Given the description of an element on the screen output the (x, y) to click on. 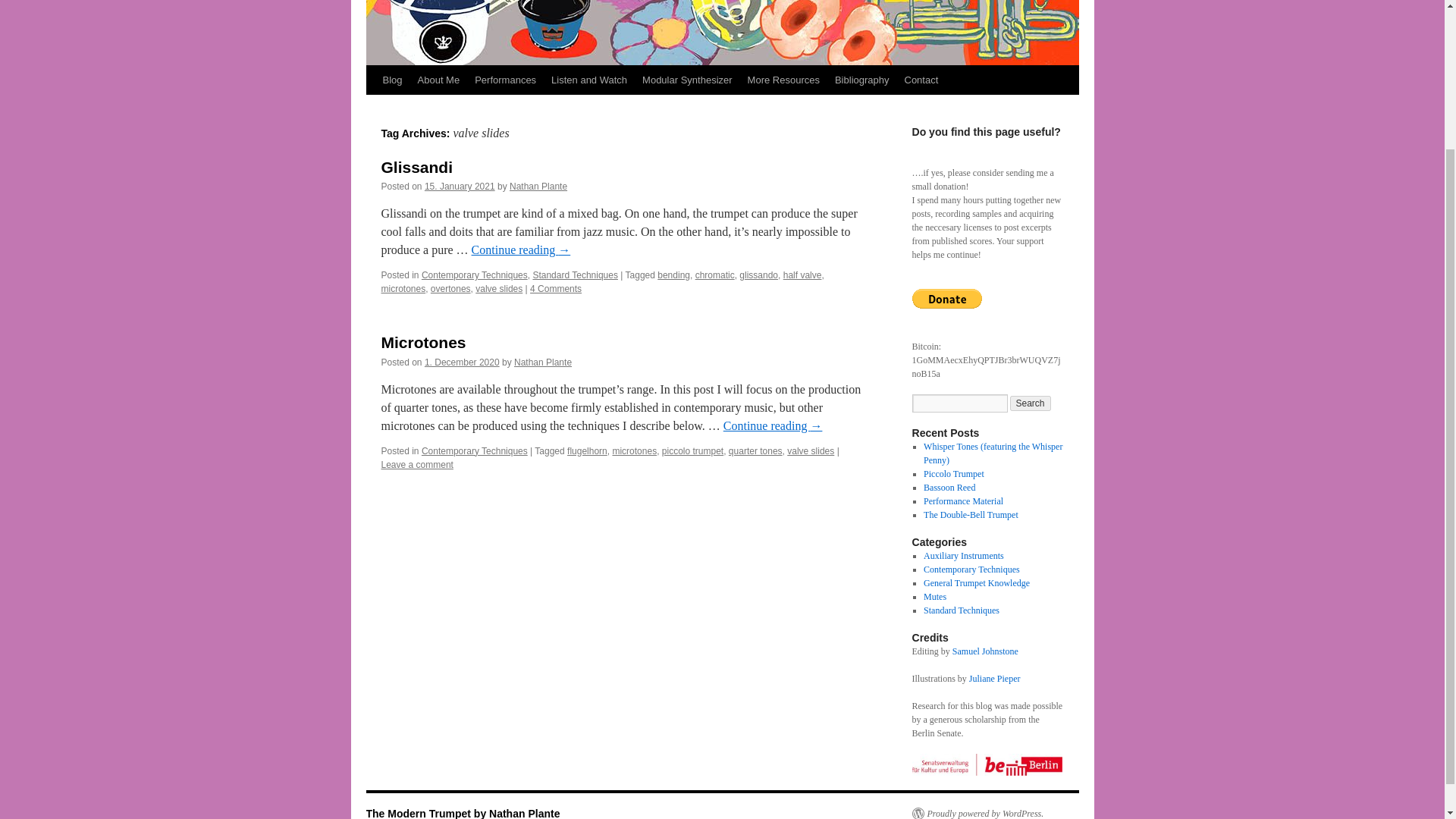
Contemporary Techniques (474, 275)
1. December 2020 (462, 362)
About Me (438, 80)
Performance Material (963, 501)
Standard Techniques (574, 275)
Microtones (422, 342)
Contact (920, 80)
View all posts by Nathan Plante (538, 185)
half valve (802, 275)
View all posts by Nathan Plante (542, 362)
